Given the description of an element on the screen output the (x, y) to click on. 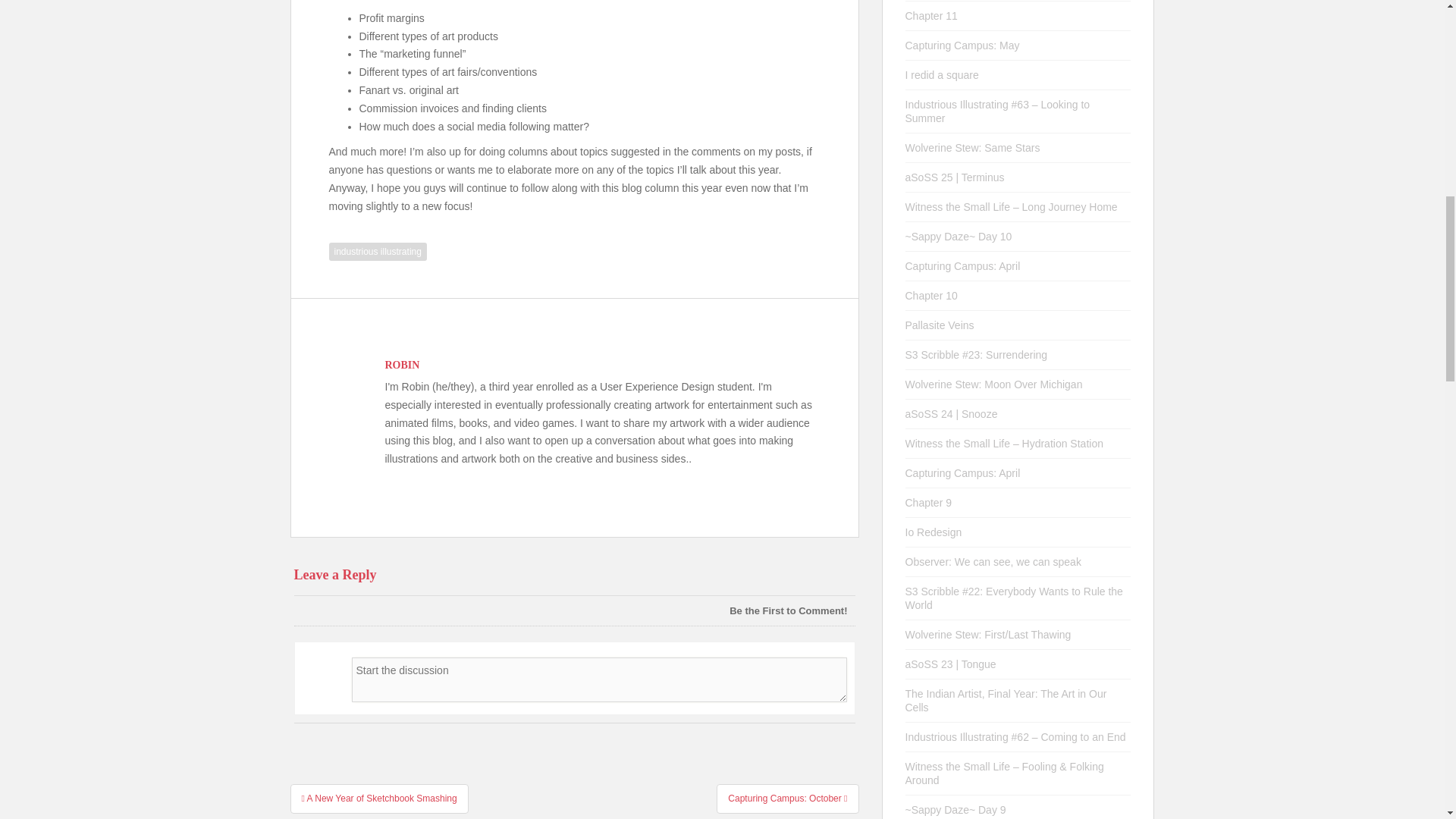
Wolverine Stew: Same Stars (973, 147)
ROBIN (402, 365)
A New Year of Sketchbook Smashing (378, 798)
Capturing Campus: May (962, 45)
industrious illustrating (377, 251)
I redid a square (941, 74)
Chapter 11 (931, 15)
Capturing Campus: October (787, 798)
